Given the description of an element on the screen output the (x, y) to click on. 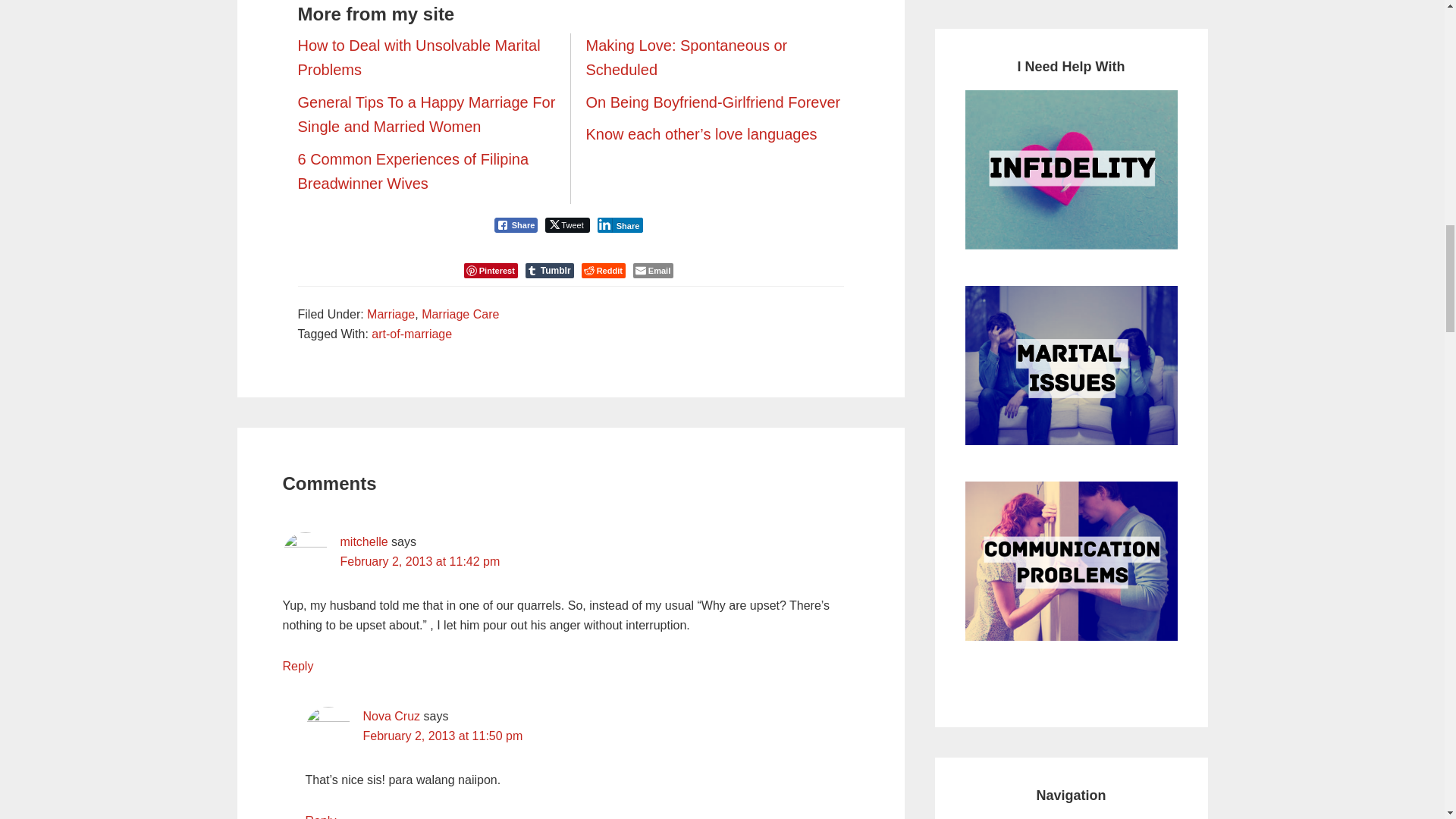
Reddit (603, 270)
How to Deal with Unsolvable Marital Problems (418, 57)
Tweet (566, 224)
Making Love: Spontaneous or Scheduled (686, 57)
Share (516, 224)
Marriage (390, 314)
art-of-marriage (411, 333)
6 Common Experiences of Filipina Breadwinner Wives (412, 171)
Reply (297, 666)
